Given the description of an element on the screen output the (x, y) to click on. 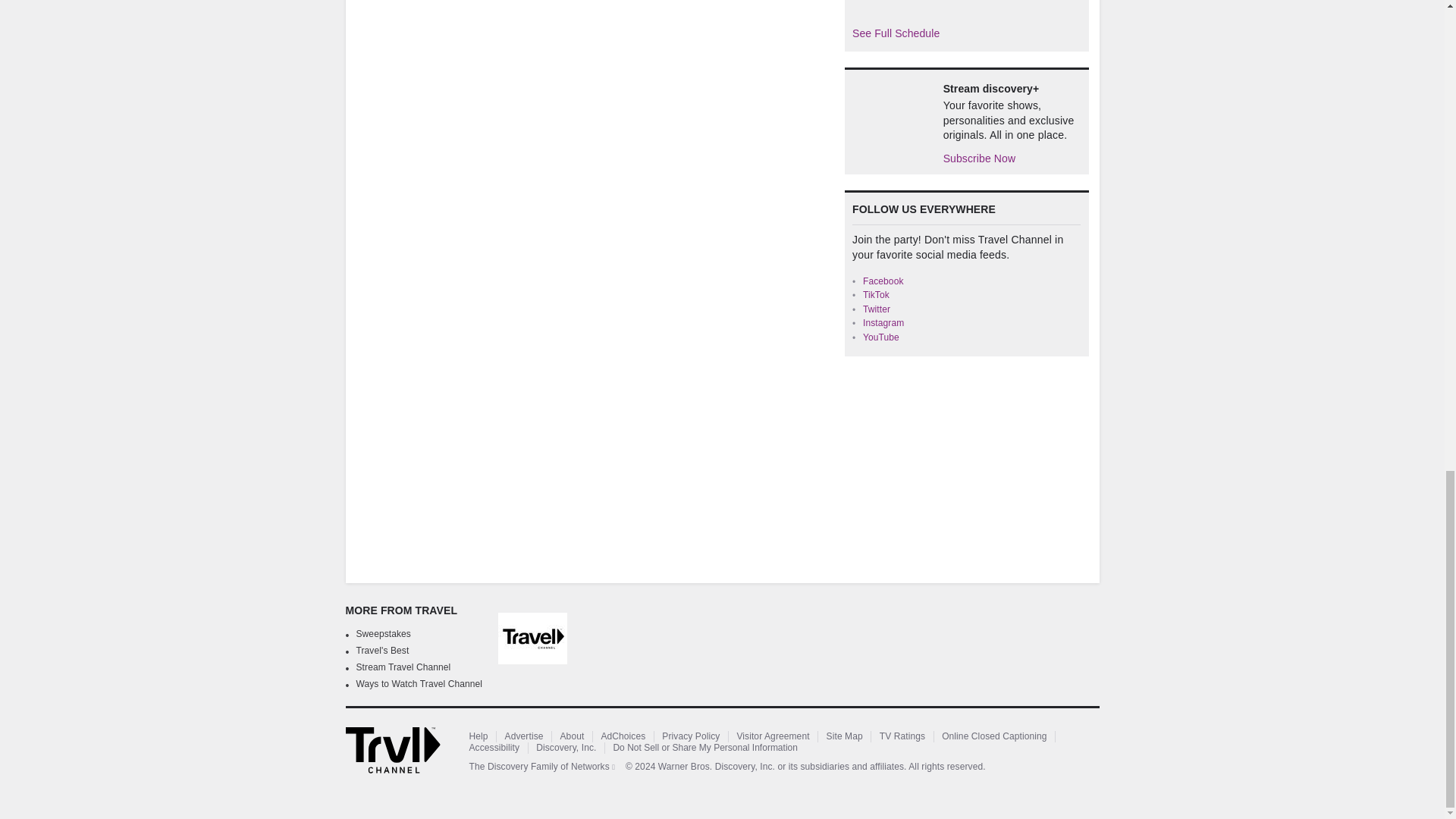
3rd party ad content (957, 466)
Stream Travel Channel (403, 666)
Sweepstakes (383, 633)
Travel's Best (382, 650)
Ways to Watch Travel Channel (419, 683)
